Given the description of an element on the screen output the (x, y) to click on. 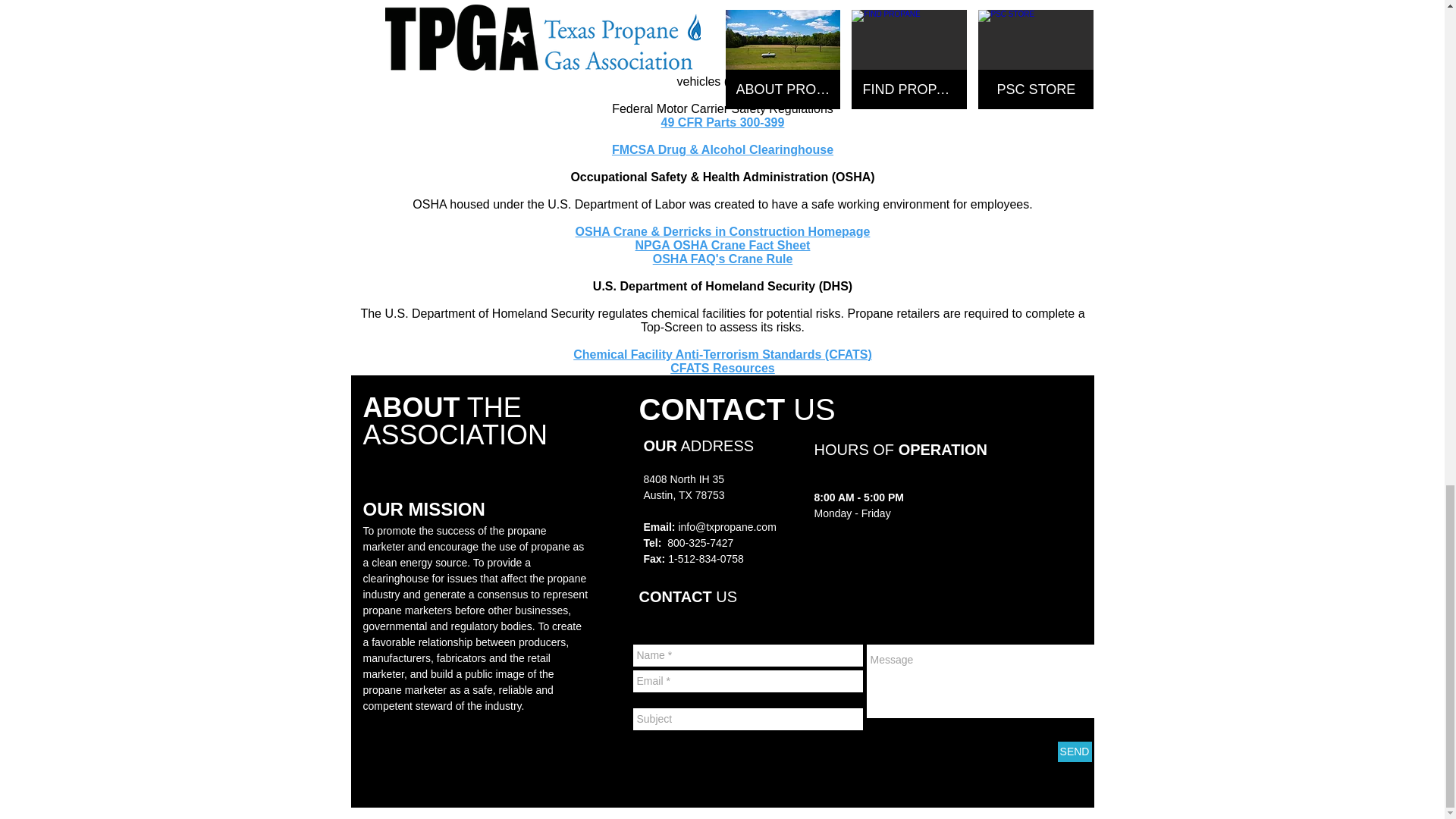
RIN Fact Sheet (722, 2)
NPGA OSHA Crane Fact Sheet (722, 245)
RIN Locator (722, 12)
49 CFR Parts 300-399 (722, 122)
OSHA FAQ's Crane Rule (722, 258)
CFATS Resources (721, 367)
